Given the description of an element on the screen output the (x, y) to click on. 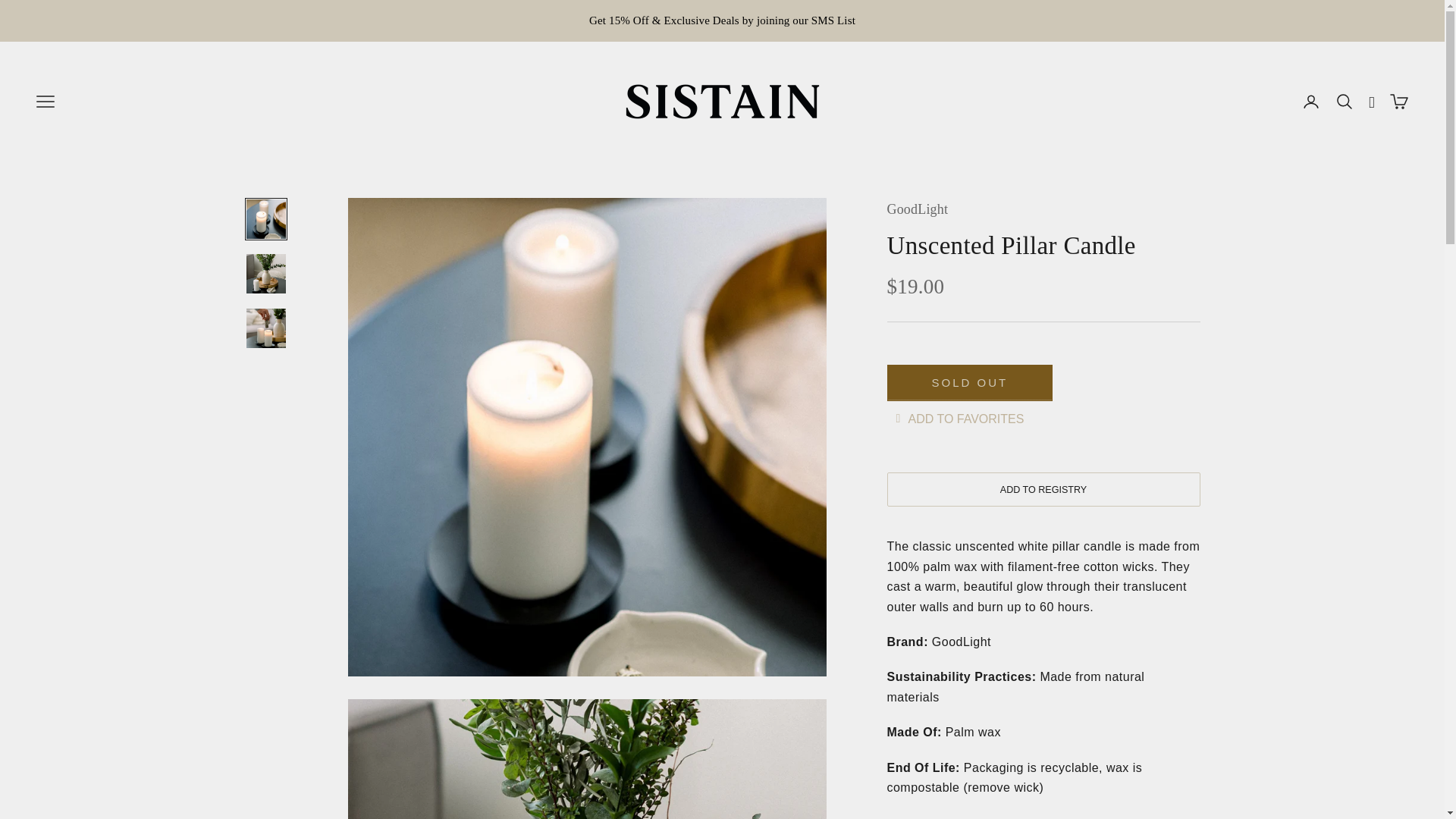
Open search (1344, 101)
Open navigation menu (45, 101)
GoodLight (917, 209)
ADD TO REGISTRY (1042, 489)
SOLD OUT (969, 382)
SISTAIN (721, 101)
ADD TO FAVORITES (955, 418)
Open account page (1310, 101)
Open cart (1398, 101)
